Given the description of an element on the screen output the (x, y) to click on. 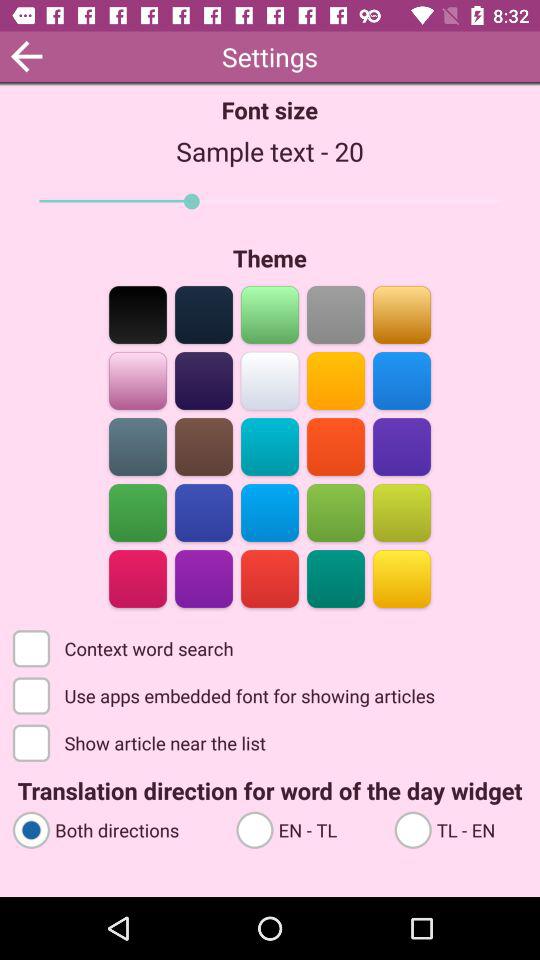
tap item above the translation direction for (141, 741)
